Given the description of an element on the screen output the (x, y) to click on. 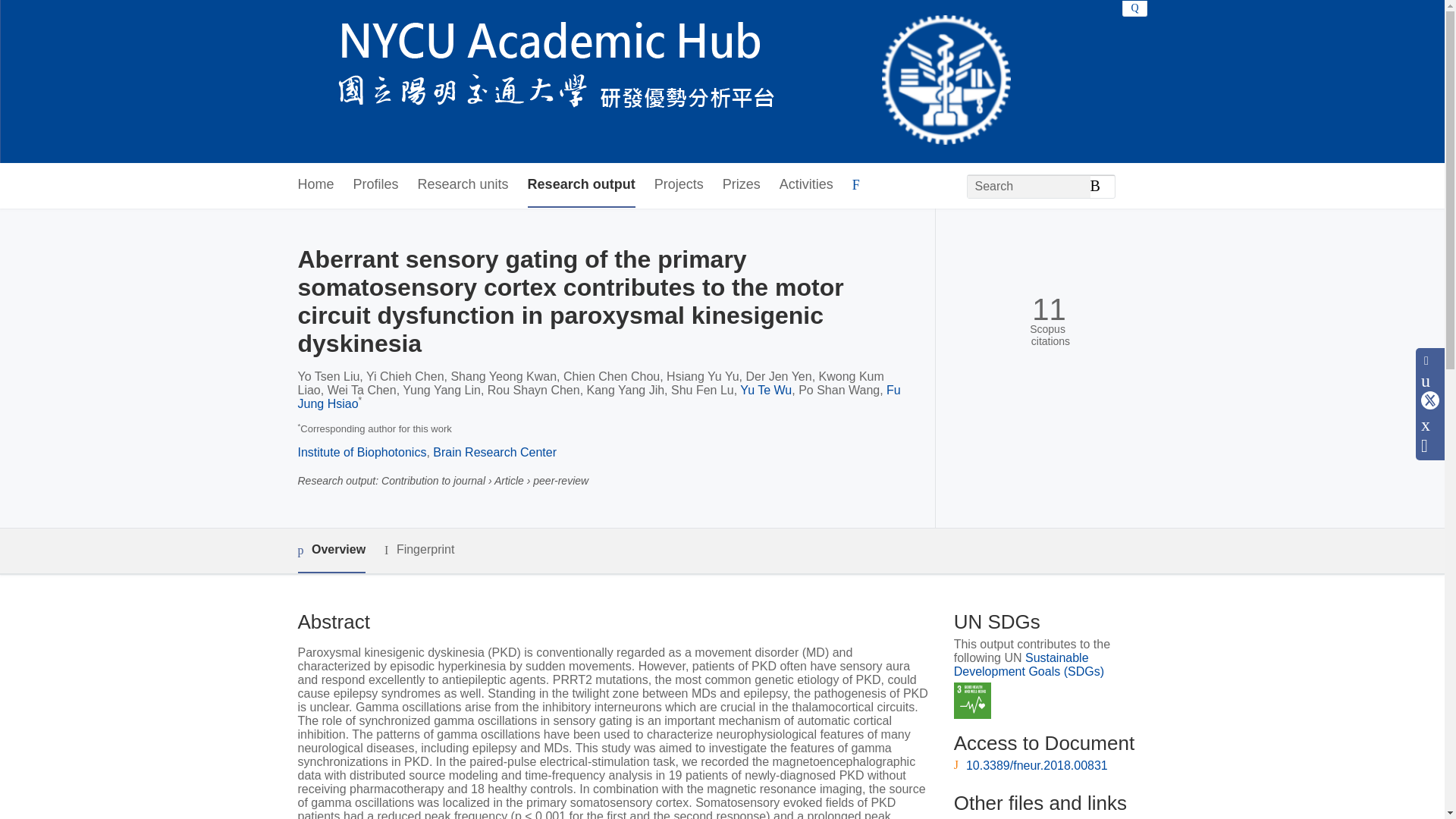
Profiles (375, 185)
Yu Te Wu (765, 390)
Fu Jung Hsiao (598, 397)
Overview (331, 550)
Activities (805, 185)
Institute of Biophotonics (361, 451)
Prizes (741, 185)
Projects (678, 185)
Research output (580, 185)
Research units (462, 185)
National Yang Ming Chiao Tung University Academic Hub Home (653, 81)
Fingerprint (419, 549)
Home (315, 185)
SDG 3 - Good Health and Well-being (972, 700)
